Given the description of an element on the screen output the (x, y) to click on. 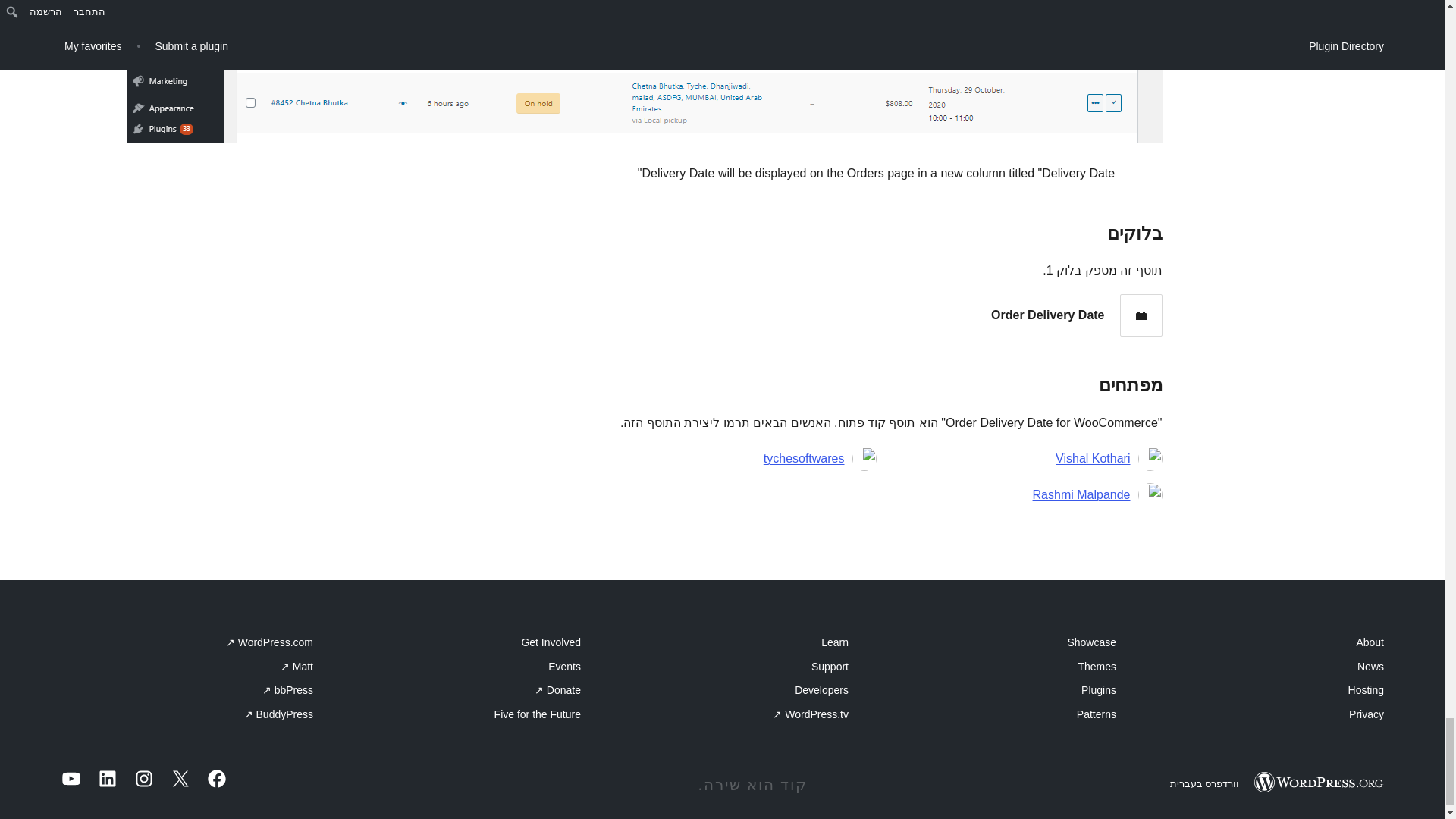
WordPress.org (1318, 782)
